Given the description of an element on the screen output the (x, y) to click on. 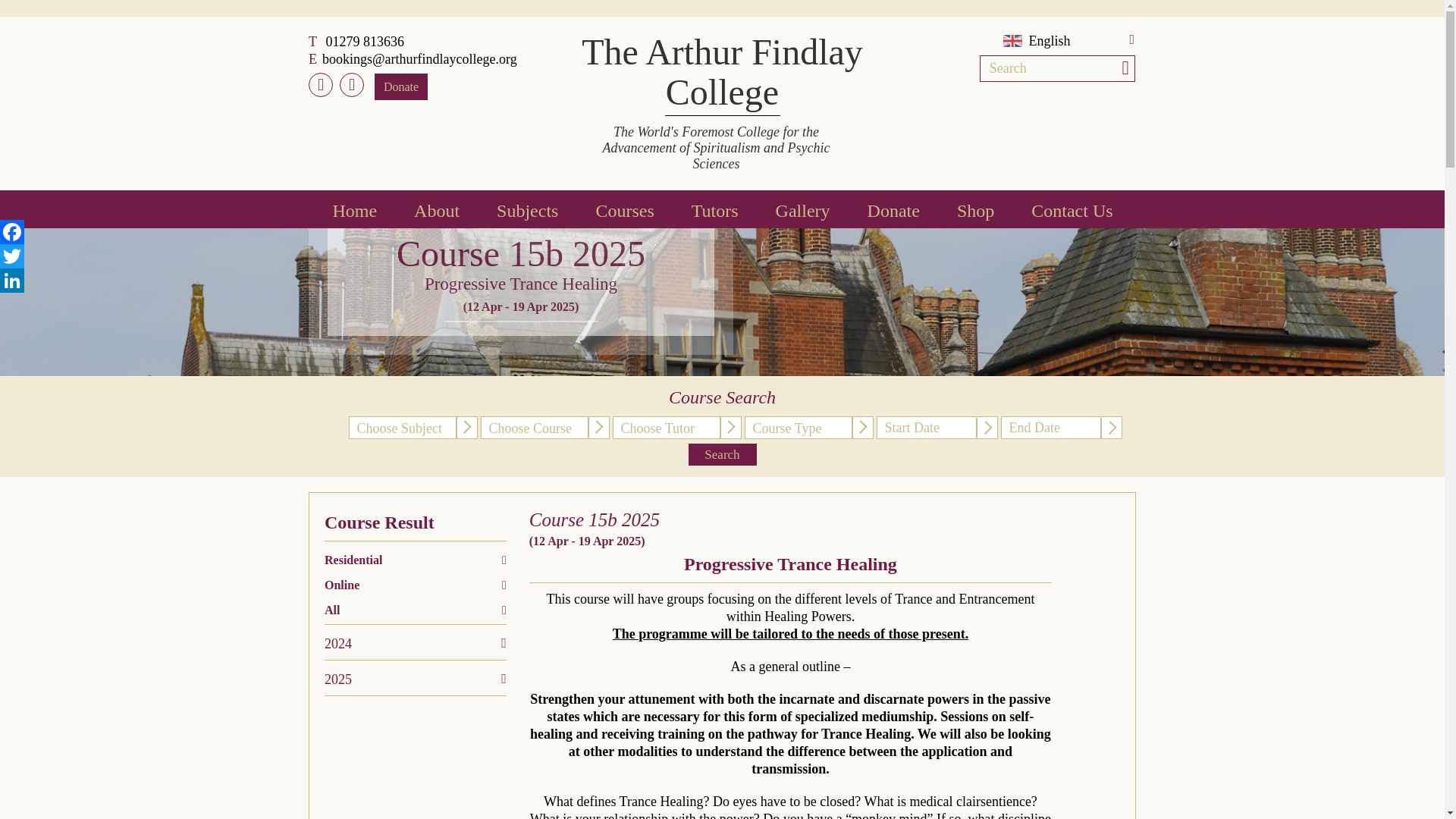
01279 813636 (364, 41)
LinkedIn (12, 280)
Facebook (12, 232)
Twitter (12, 256)
